Given the description of an element on the screen output the (x, y) to click on. 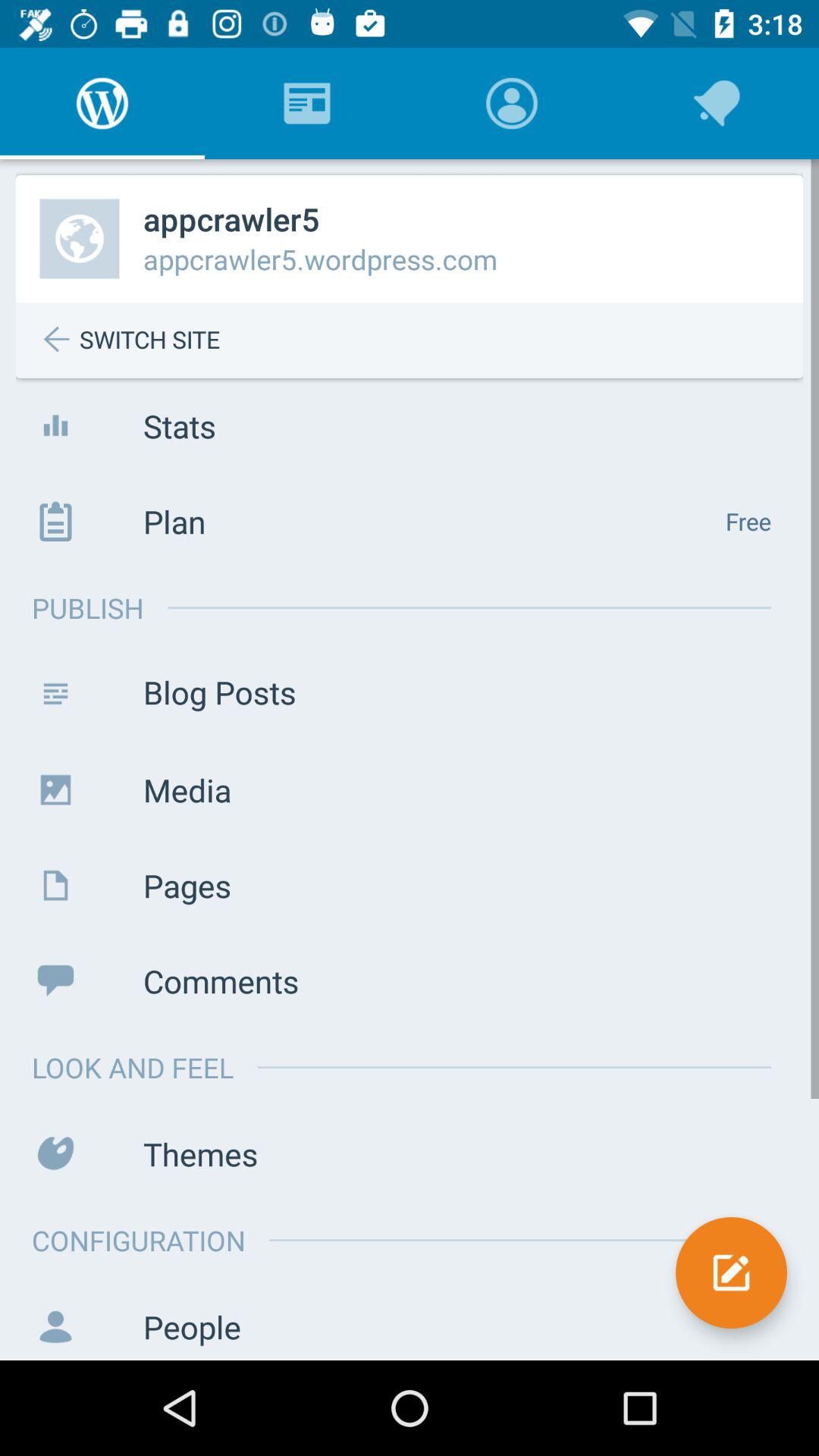
turn off the switch site (421, 340)
